Given the description of an element on the screen output the (x, y) to click on. 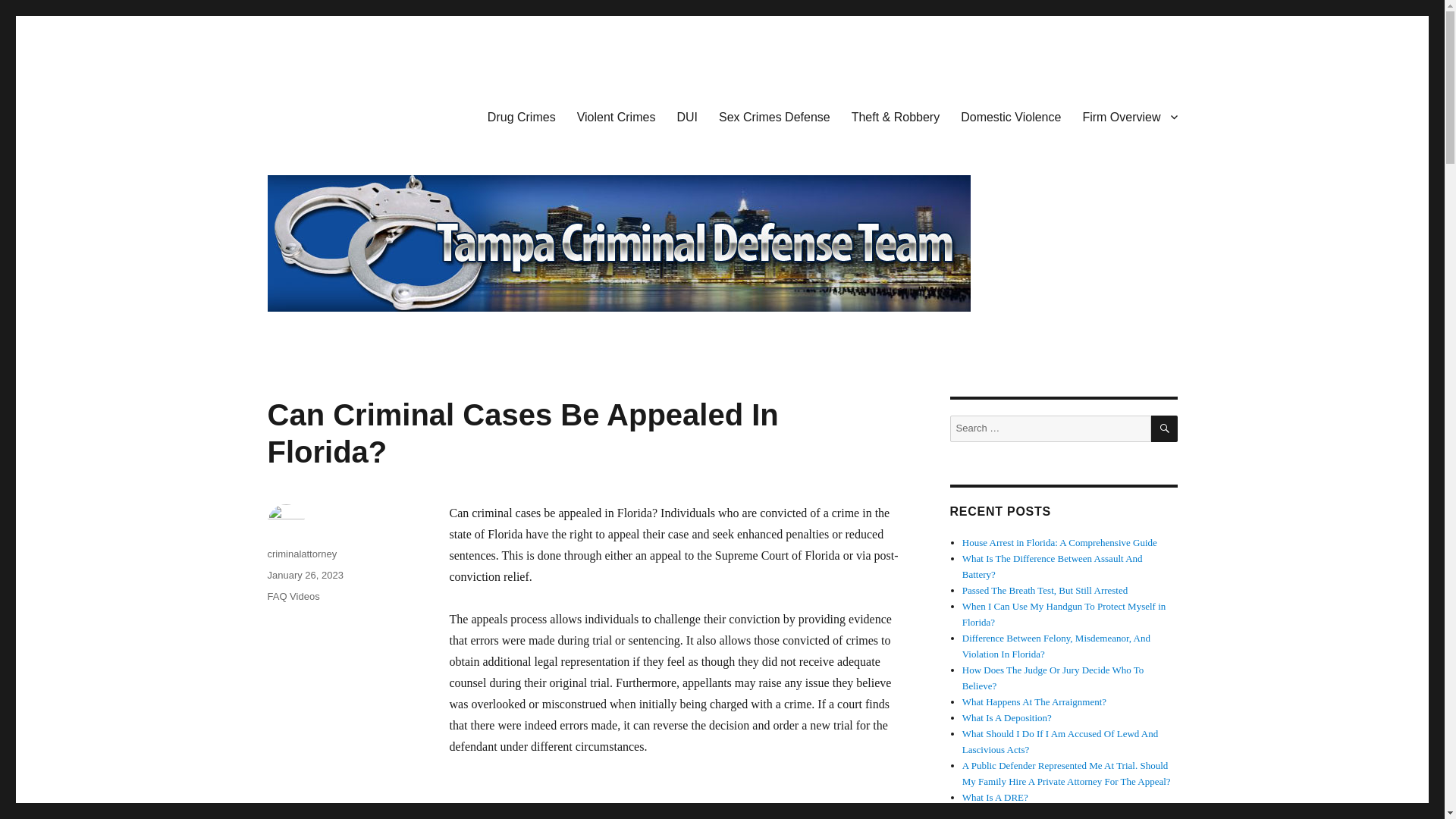
criminalattorney (301, 553)
What Is A Deposition? (1006, 717)
Passed The Breath Test, But Still Arrested (1045, 590)
January 26, 2023 (304, 574)
FAQ Videos (292, 595)
House Arrest in Florida: A Comprehensive Guide (1059, 542)
How Does The Judge Or Jury Decide Who To Believe? (1053, 677)
DUI (686, 116)
What Is Administrative License Suspension? (1050, 813)
